Given the description of an element on the screen output the (x, y) to click on. 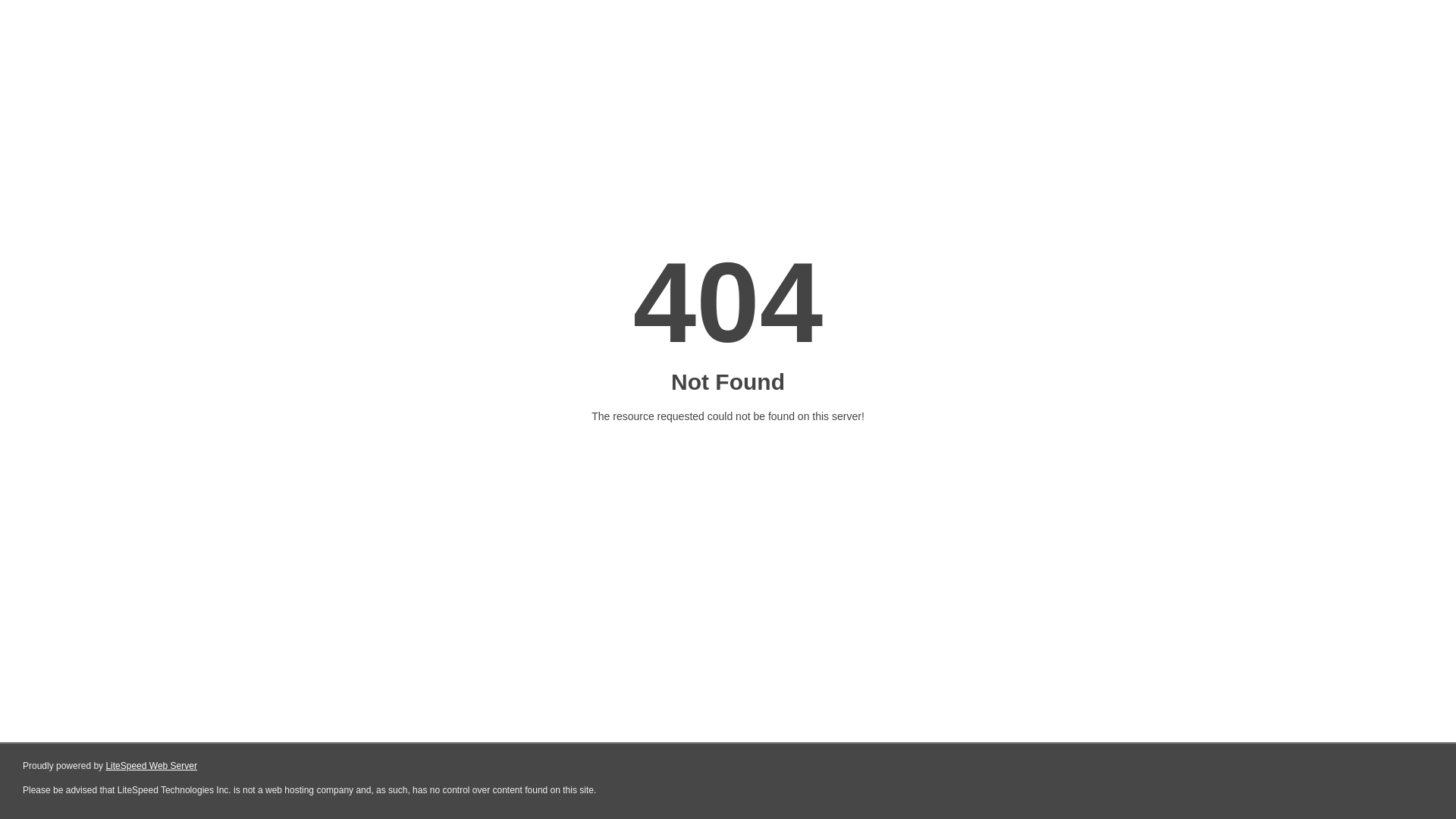
LiteSpeed Web Server Element type: text (151, 765)
